Given the description of an element on the screen output the (x, y) to click on. 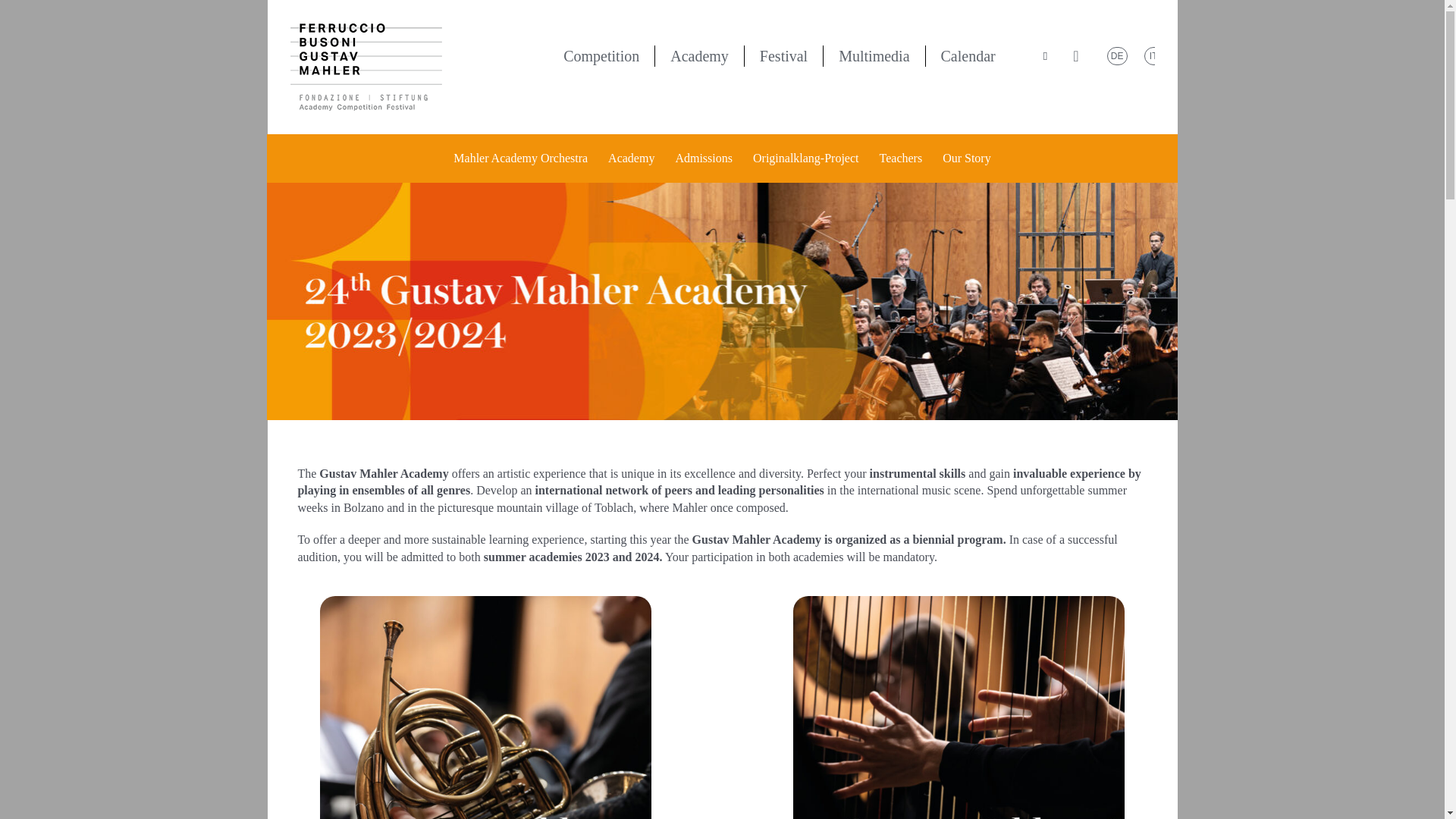
Academy (630, 158)
Calendar (967, 55)
Mahler Academy Orchestra (520, 158)
Academy (699, 55)
Competition (601, 55)
Festival (784, 55)
Multimedia (873, 55)
